Given the description of an element on the screen output the (x, y) to click on. 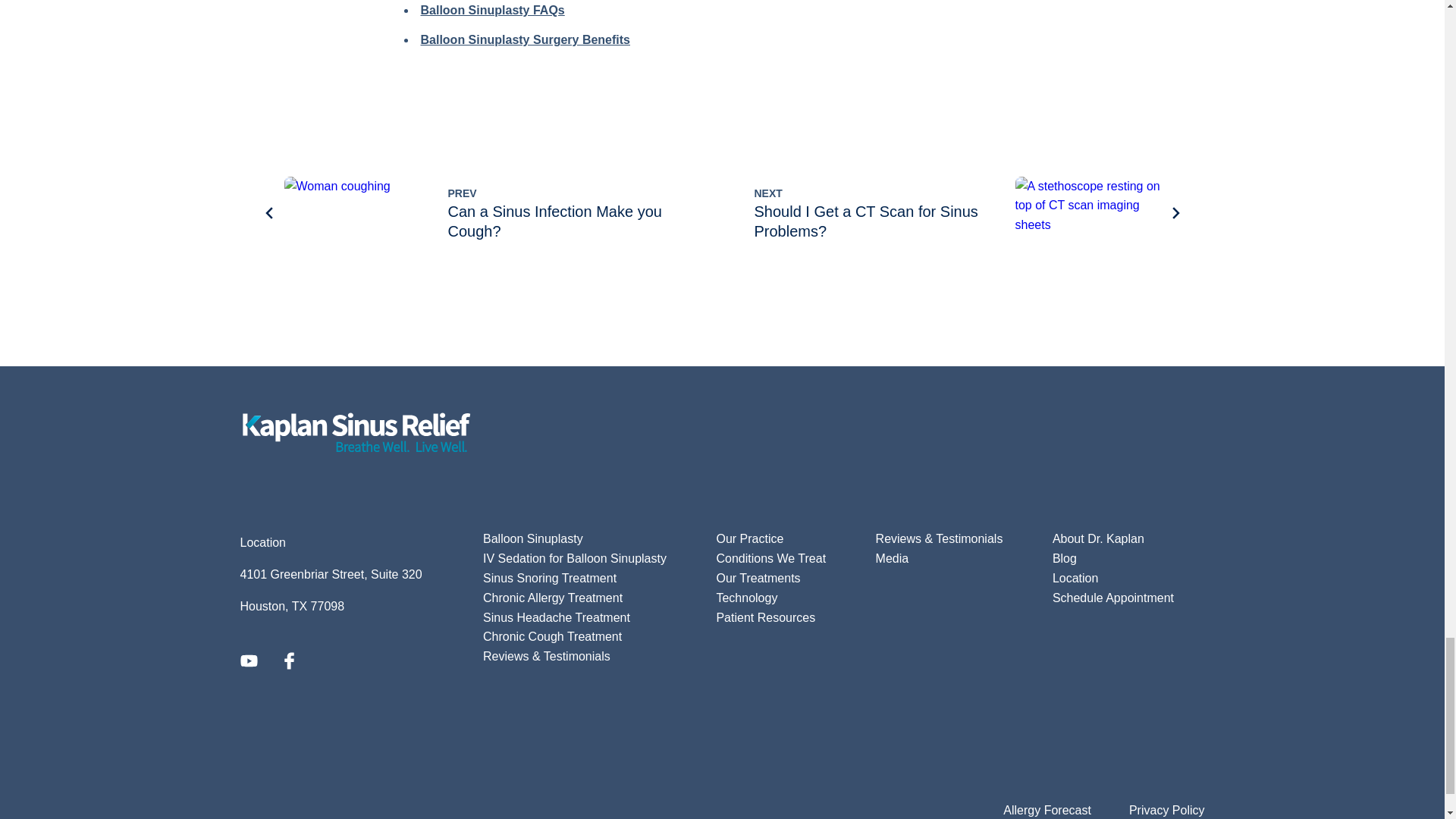
Balloon Sinuplasty FAQs (492, 10)
Sinus Snoring Treatment (549, 577)
Balloon Sinuplasty (476, 212)
Balloon Sinuplasty Surgery Benefits (533, 538)
IV Sedation for Balloon Sinuplasty (967, 212)
